Given the description of an element on the screen output the (x, y) to click on. 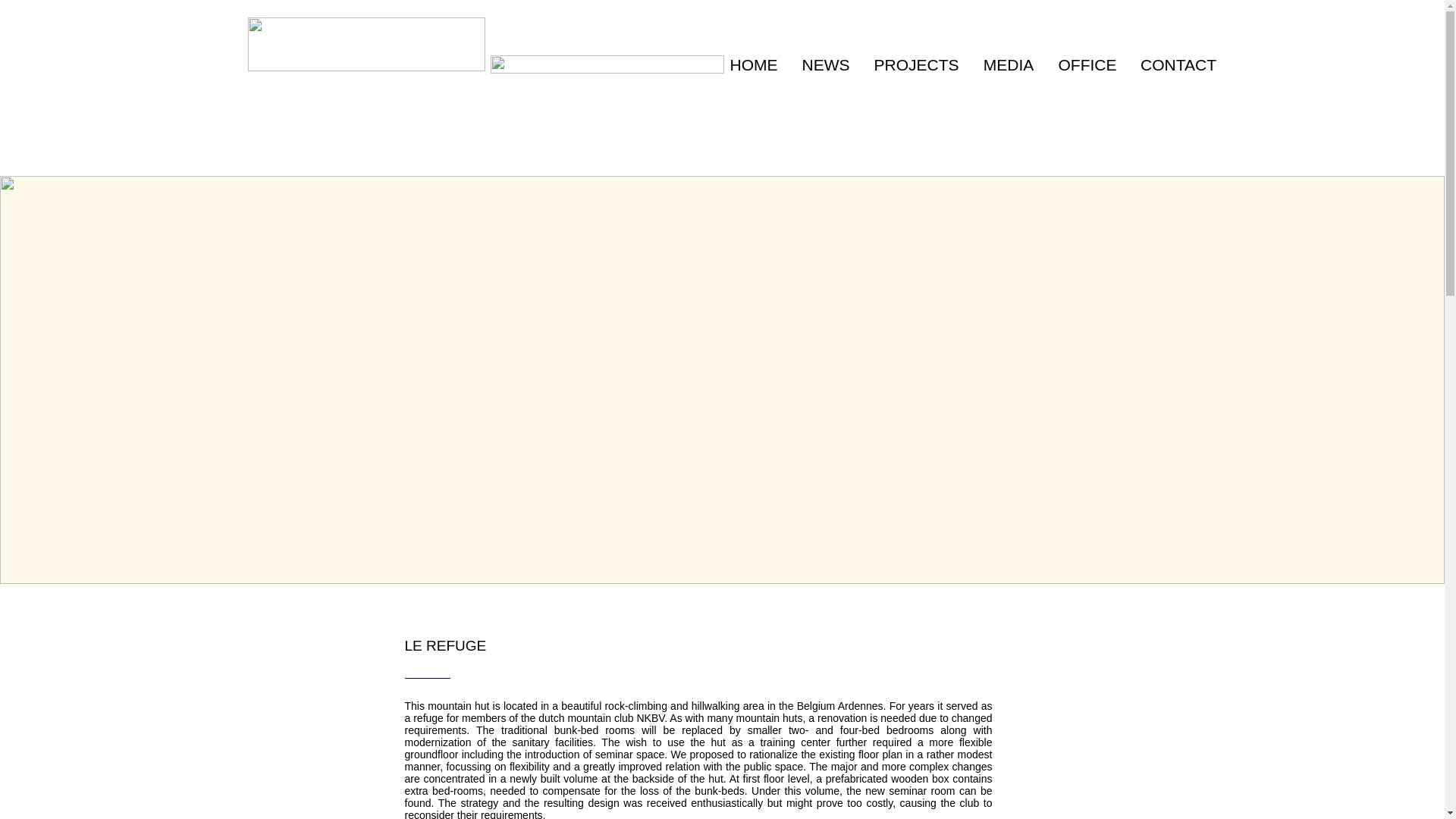
HOME (753, 64)
NEWS (825, 64)
PROJECTS (916, 64)
OFFICE (1087, 64)
MEDIA (1008, 64)
CONTACT (1177, 64)
